Given the description of an element on the screen output the (x, y) to click on. 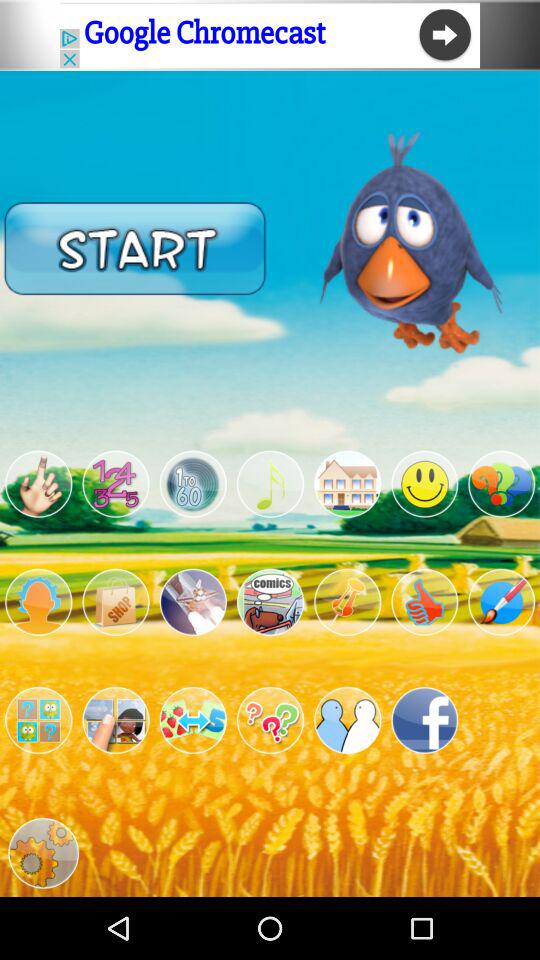
the game is make mind very calm (347, 602)
